Given the description of an element on the screen output the (x, y) to click on. 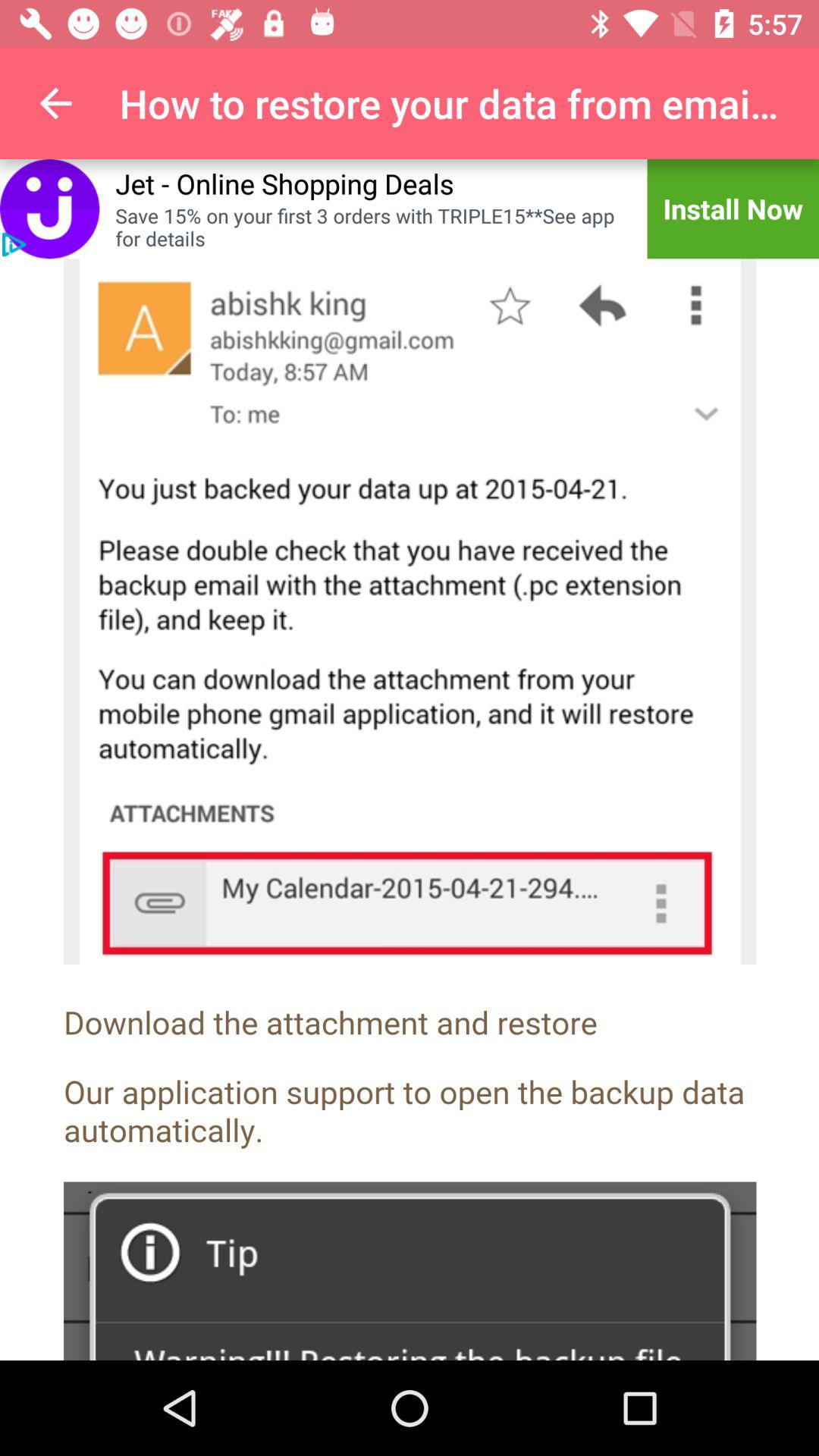
select advertisement (49, 208)
